Given the description of an element on the screen output the (x, y) to click on. 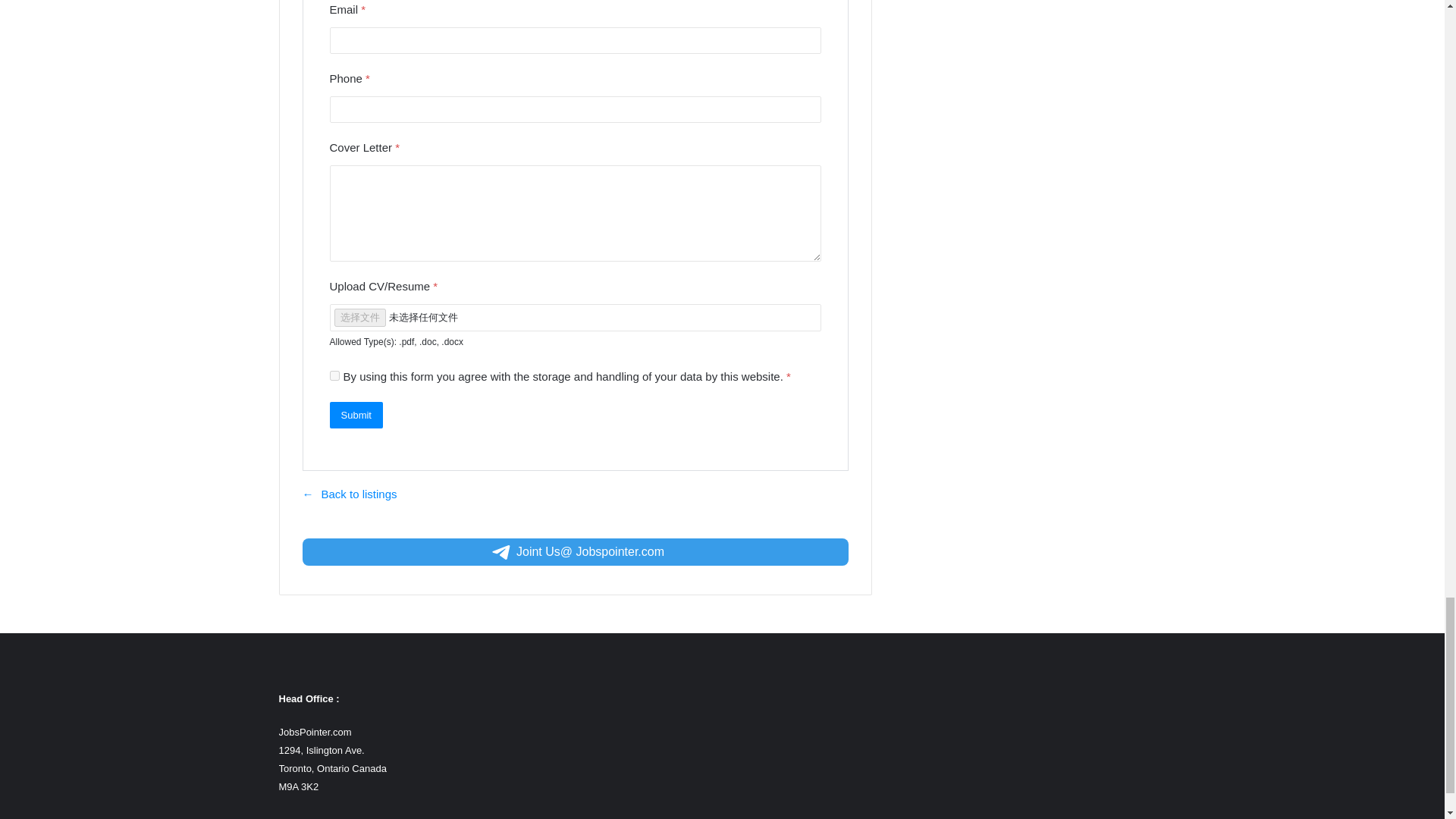
Back to listings (348, 493)
yes (334, 375)
Submit (355, 415)
Submit (355, 415)
